Given the description of an element on the screen output the (x, y) to click on. 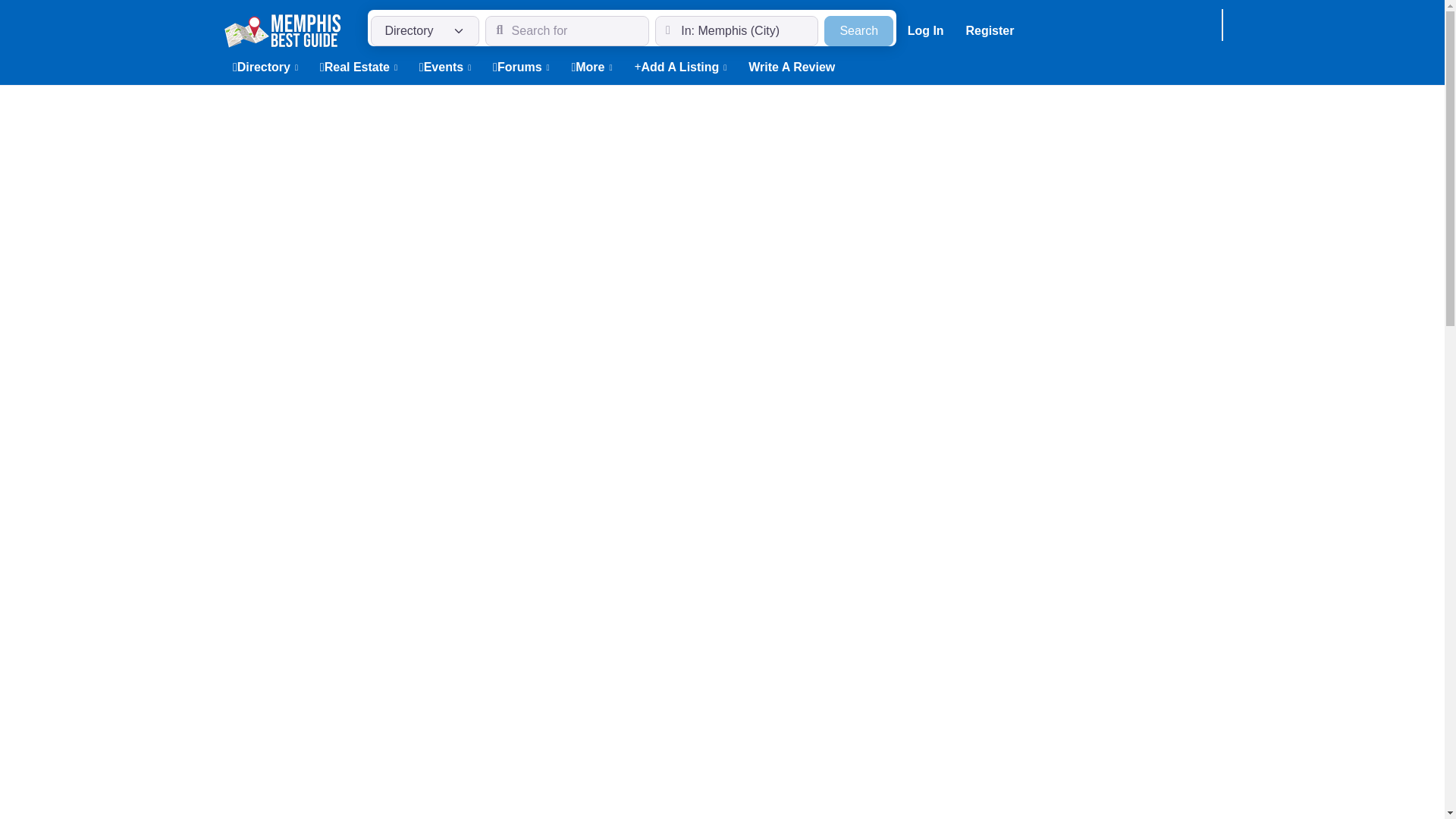
Memphis Best Guide (281, 29)
Events (444, 67)
Forums (858, 30)
Real Estate (520, 67)
Log In (357, 67)
More (925, 30)
Directory (591, 67)
Register (264, 67)
